Given the description of an element on the screen output the (x, y) to click on. 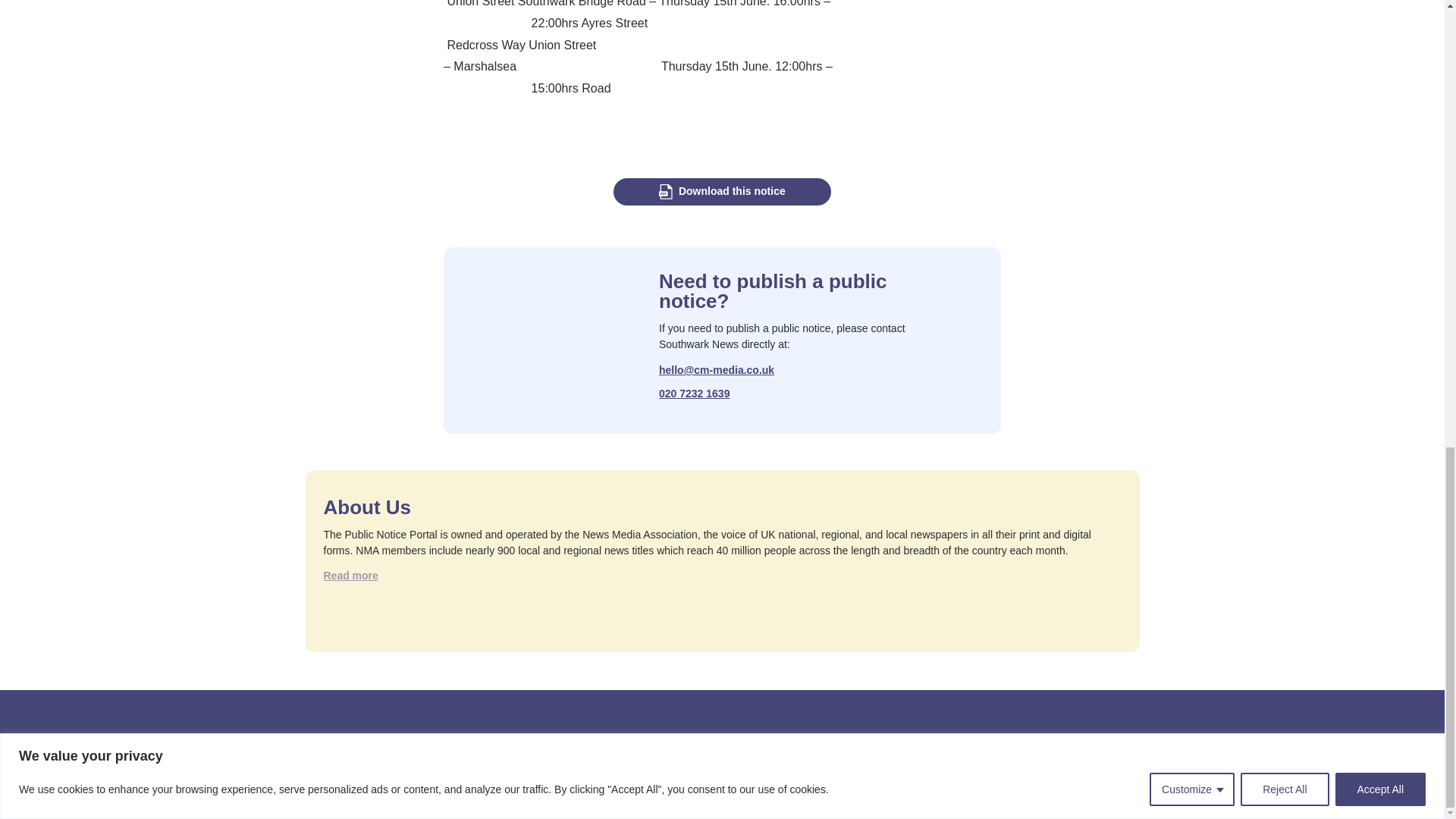
020 7232 1639 (694, 393)
Read more (350, 575)
Cookies (994, 754)
Contact Us (804, 754)
Terms (872, 754)
Privacy (931, 754)
Download this notice (720, 191)
